Given the description of an element on the screen output the (x, y) to click on. 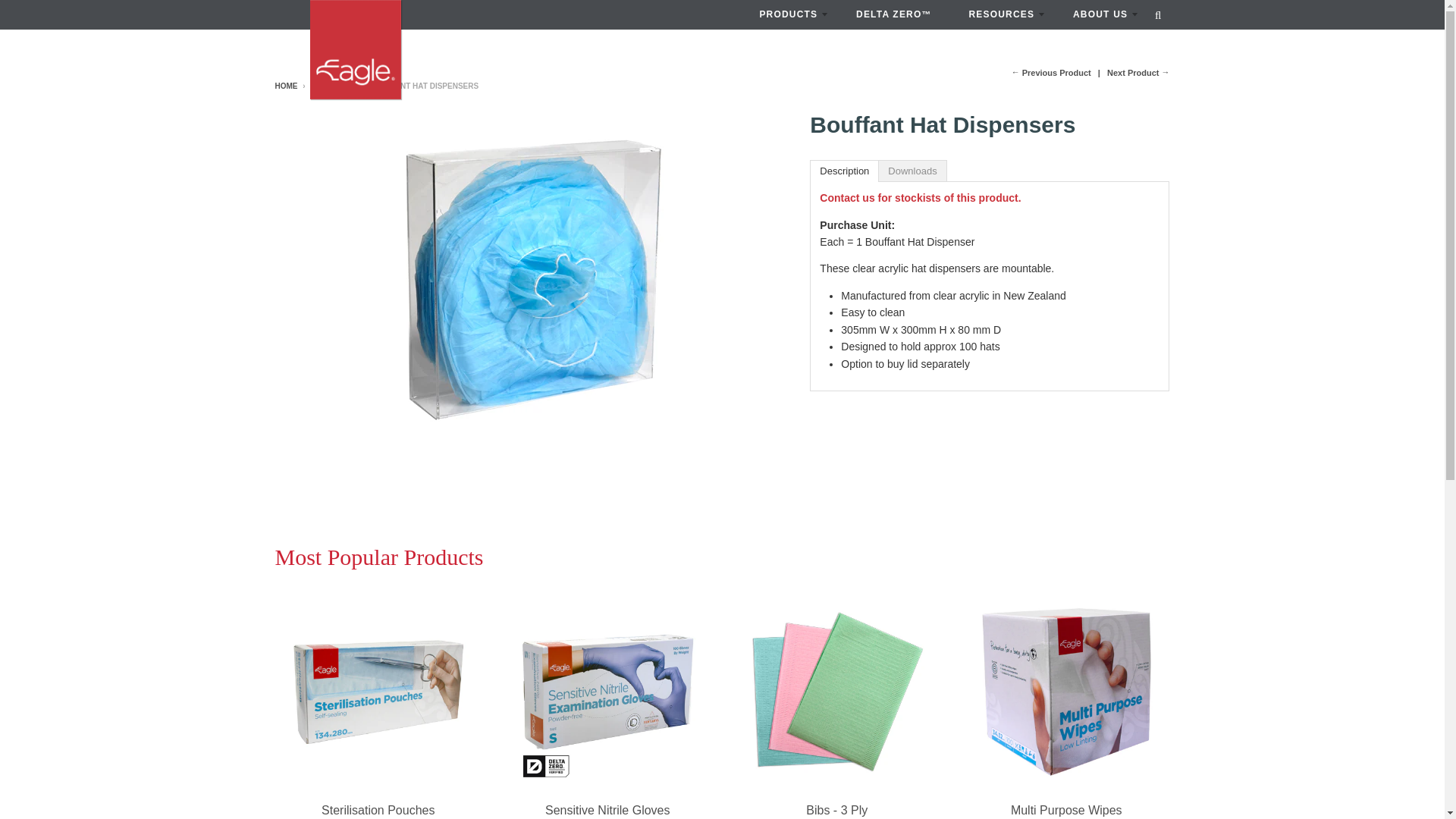
RESOURCES (1001, 14)
PRODUCTS (788, 14)
Back to the frontpage (286, 85)
ABOUT US (1101, 14)
HOME (286, 85)
